Given the description of an element on the screen output the (x, y) to click on. 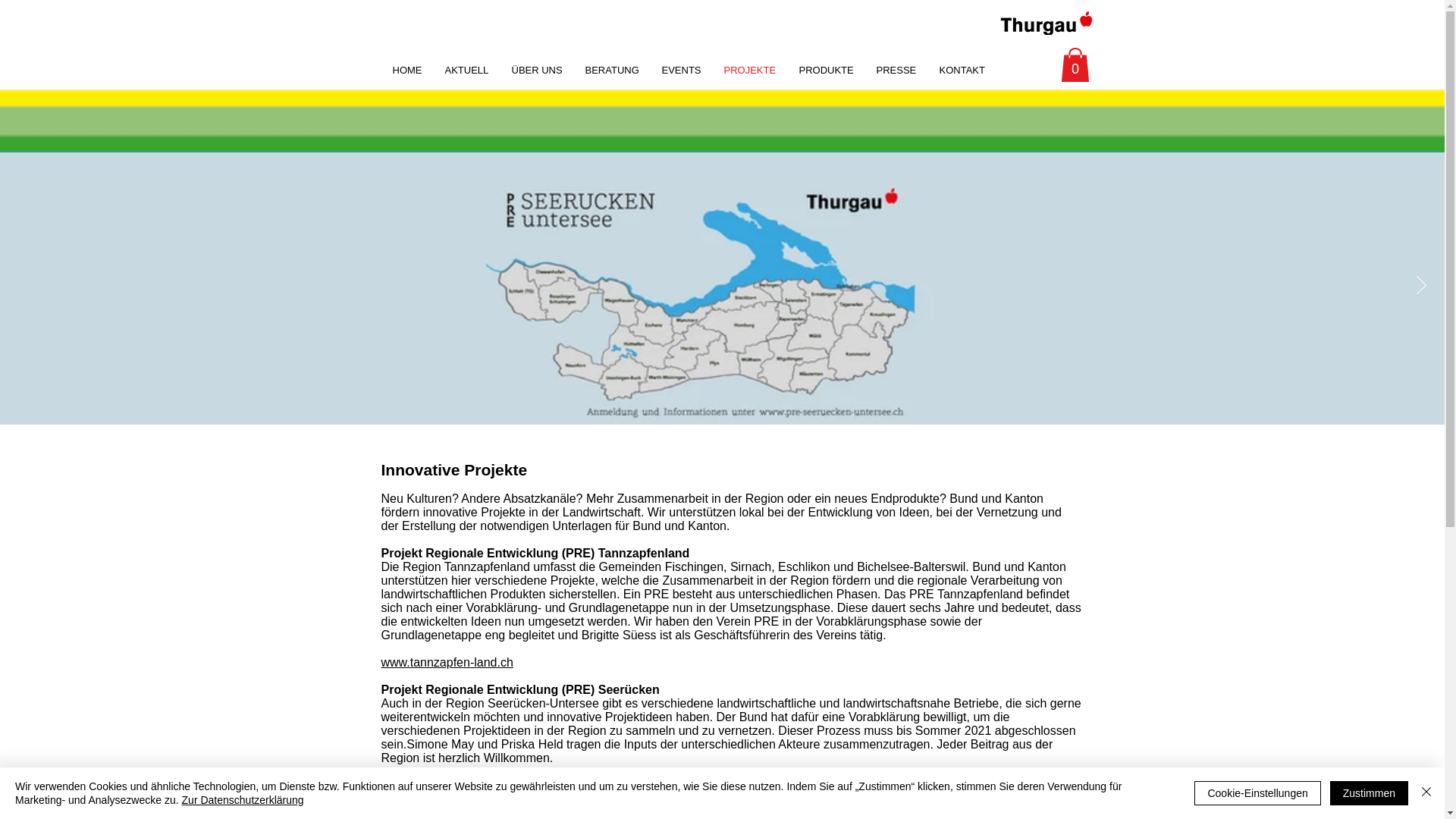
BERATUNG Element type: text (611, 70)
PROJEKTE Element type: text (749, 70)
www.pre-seeruecken-untersee.ch Element type: text (470, 784)
Cookie-Einstellungen Element type: text (1257, 793)
HOME Element type: text (406, 70)
www.tannzapfen-land.ch Element type: text (446, 661)
AKTUELL Element type: text (466, 70)
Zustimmen Element type: text (1369, 793)
KONTAKT Element type: text (962, 70)
0 Element type: text (1074, 64)
PRODUKTE Element type: text (825, 70)
EVENTS Element type: text (681, 70)
PRESSE Element type: text (895, 70)
